Given the description of an element on the screen output the (x, y) to click on. 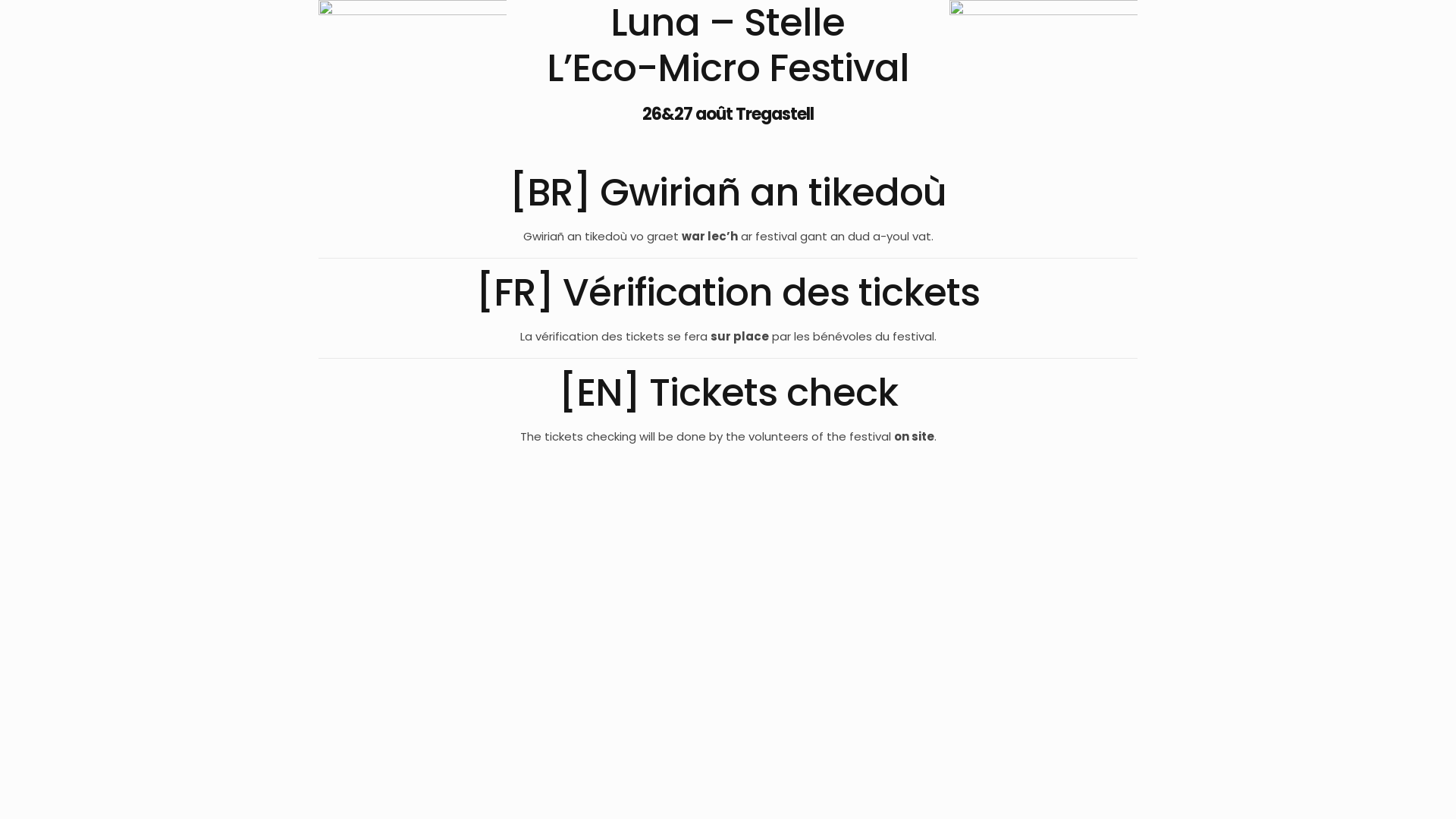
LOGOplat Element type: hover (411, 58)
logo-black-bzh Element type: hover (1042, 47)
